Given the description of an element on the screen output the (x, y) to click on. 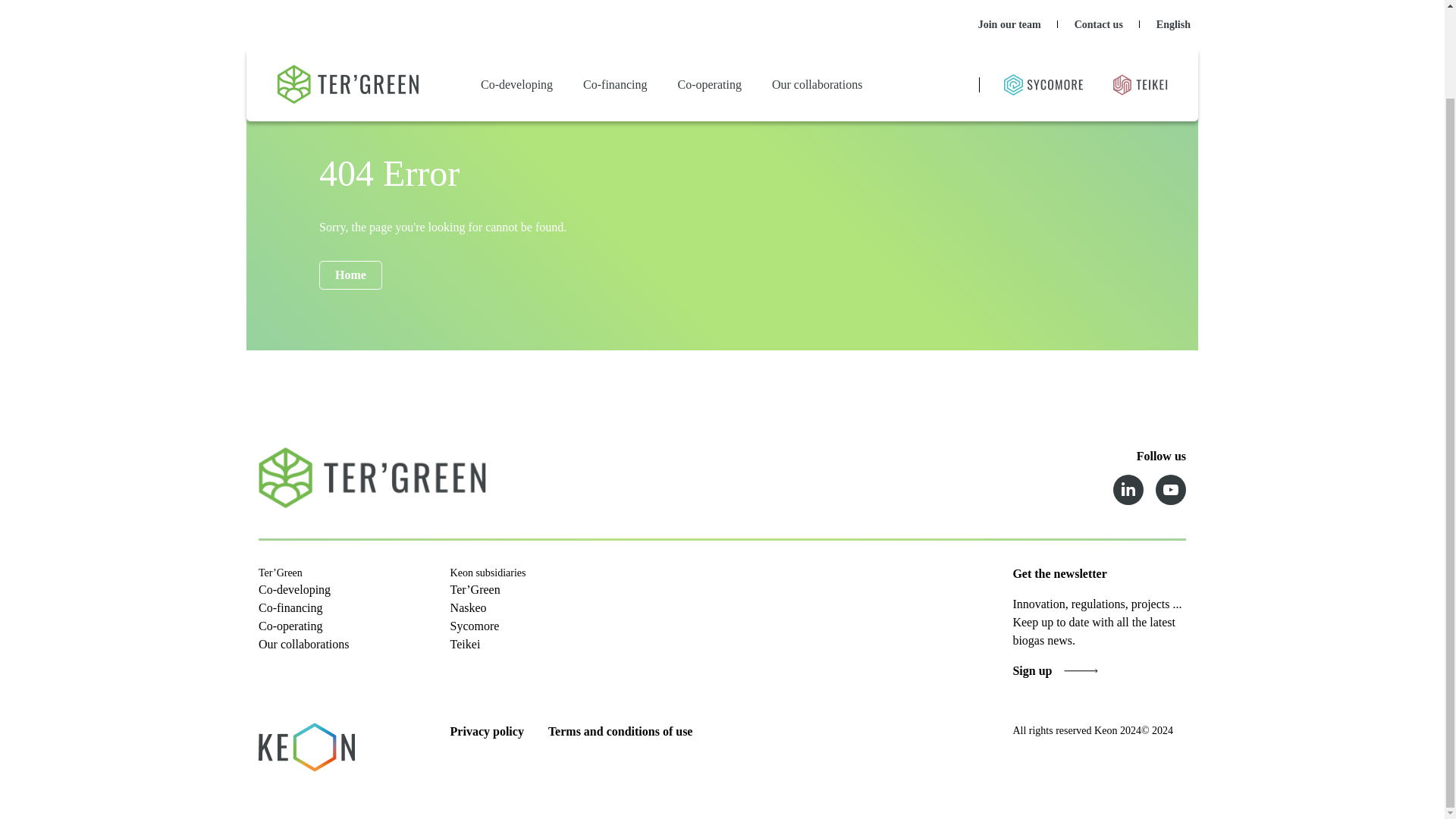
Our collaborations (817, 10)
Co-developing (516, 10)
Co-financing (290, 607)
Co-operating (709, 10)
Co-developing (294, 589)
Keon subsidiaries (487, 572)
Youtube (1171, 490)
Co-operating (290, 625)
Our collaborations (304, 644)
Home (349, 275)
